Given the description of an element on the screen output the (x, y) to click on. 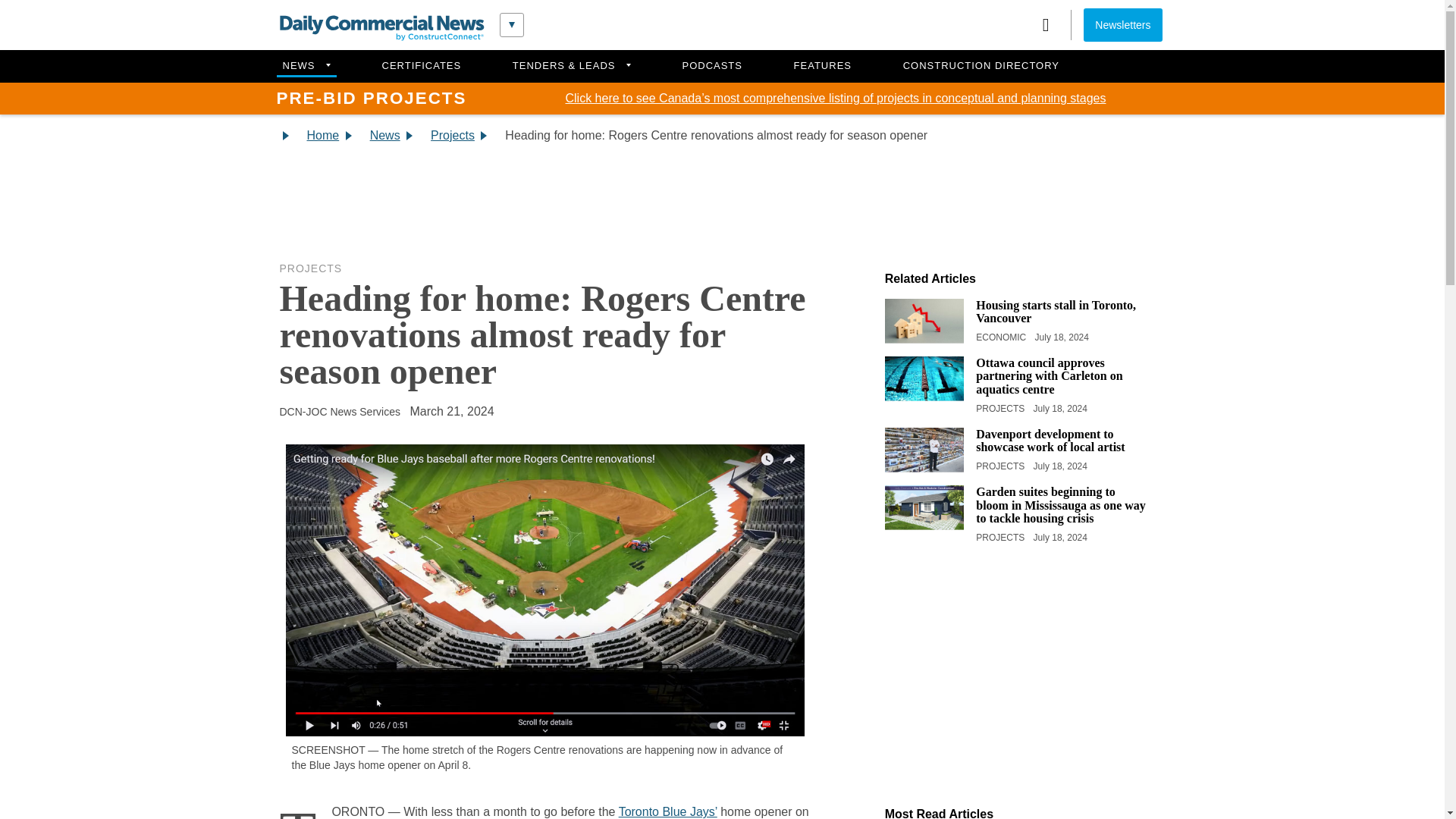
Certificates (422, 65)
Daily Commercial News (381, 27)
NEWS (305, 65)
CERTIFICATES (422, 65)
Newsletters (1122, 24)
CONSTRUCTION DIRECTORY (981, 65)
PODCASTS (712, 65)
FEATURES (823, 65)
View site list (511, 24)
Newsletters (1122, 24)
News (305, 65)
